Given the description of an element on the screen output the (x, y) to click on. 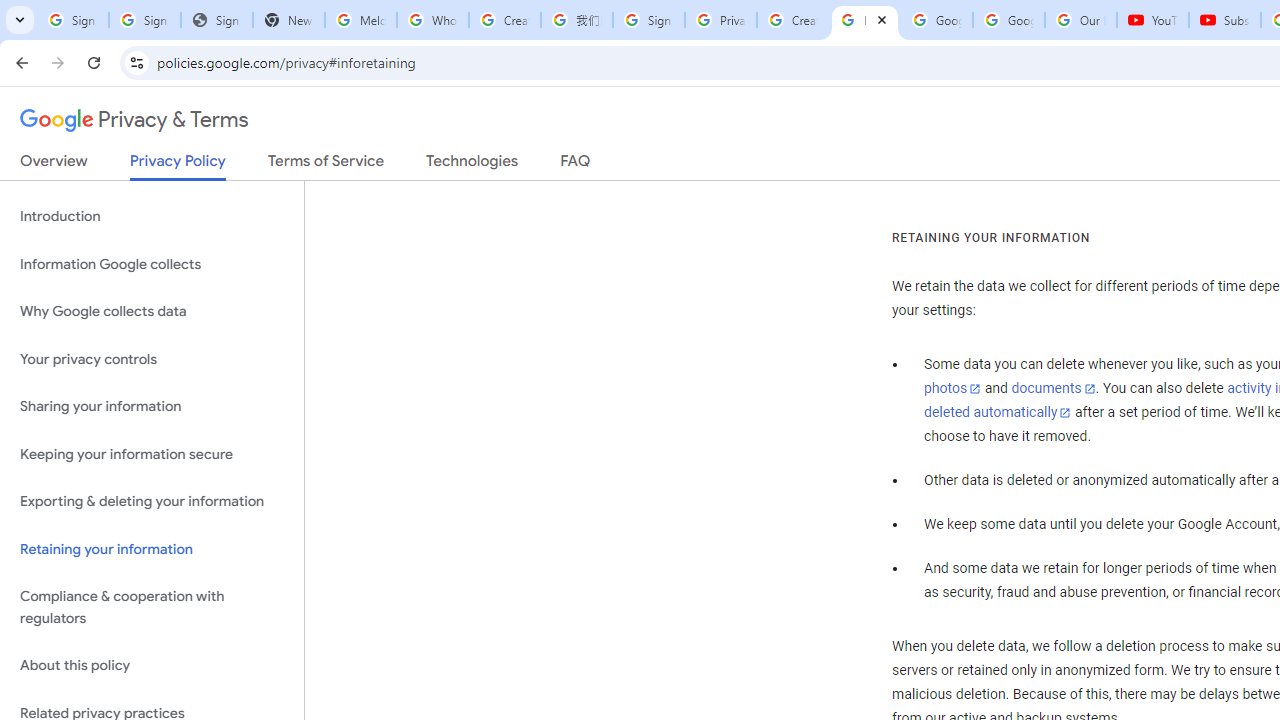
Sign in - Google Accounts (648, 20)
Sign in - Google Accounts (144, 20)
Sign in - Google Accounts (72, 20)
Introduction (152, 216)
Terms of Service (326, 165)
Sign In - USA TODAY (216, 20)
Create your Google Account (504, 20)
Who is my administrator? - Google Account Help (432, 20)
YouTube (1153, 20)
